Given the description of an element on the screen output the (x, y) to click on. 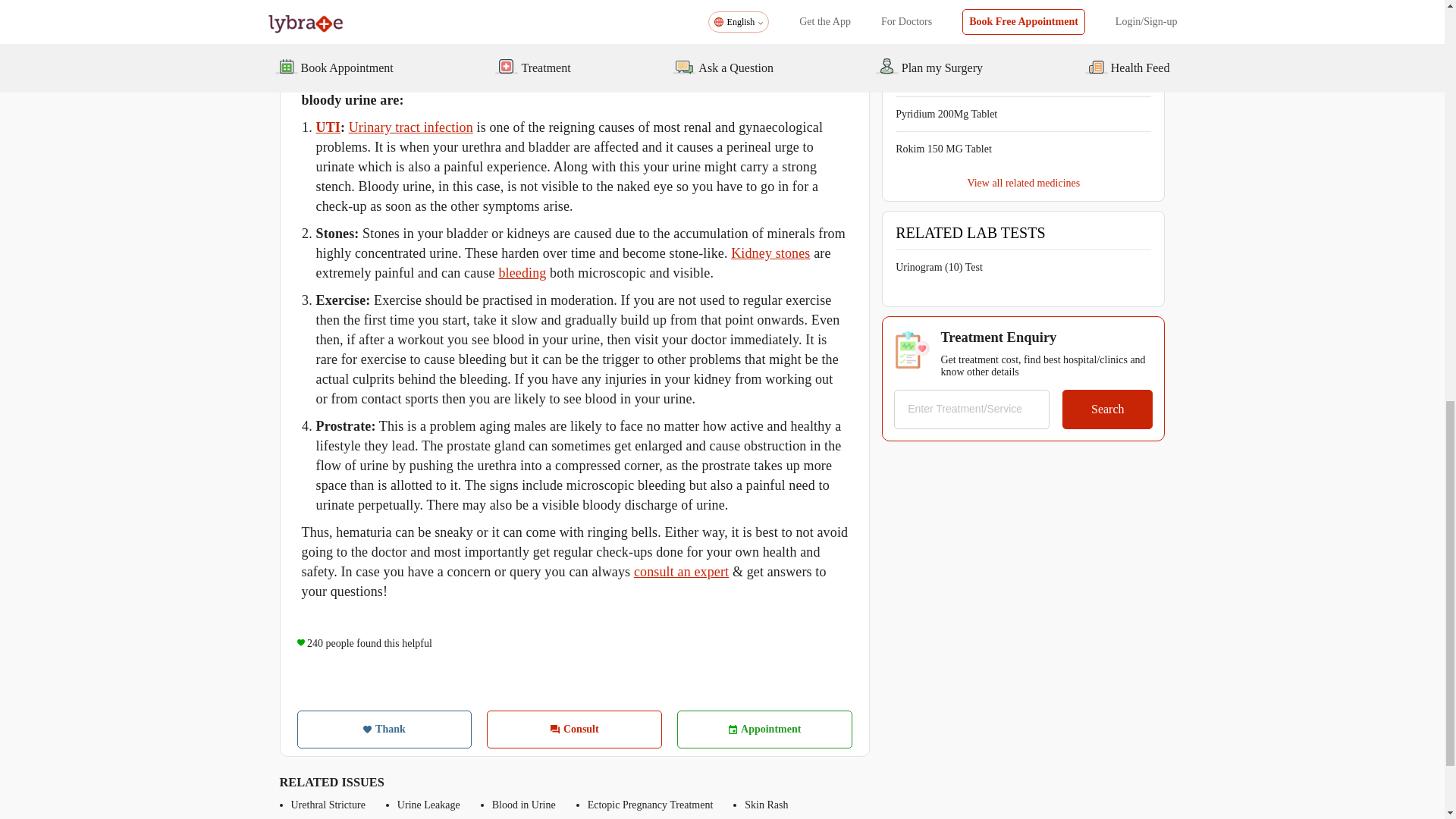
Consult (574, 729)
consult an expert (681, 571)
UTI (327, 127)
bleeding (521, 272)
Skin Rash (765, 805)
Urinary tract infection (411, 127)
Kidney stones (769, 253)
Blood in Urine (524, 805)
Urine Leakage (428, 805)
Urethral Stricture (328, 805)
Ectopic Pregnancy Treatment (650, 805)
Appointment (764, 729)
Thank (384, 729)
